Given the description of an element on the screen output the (x, y) to click on. 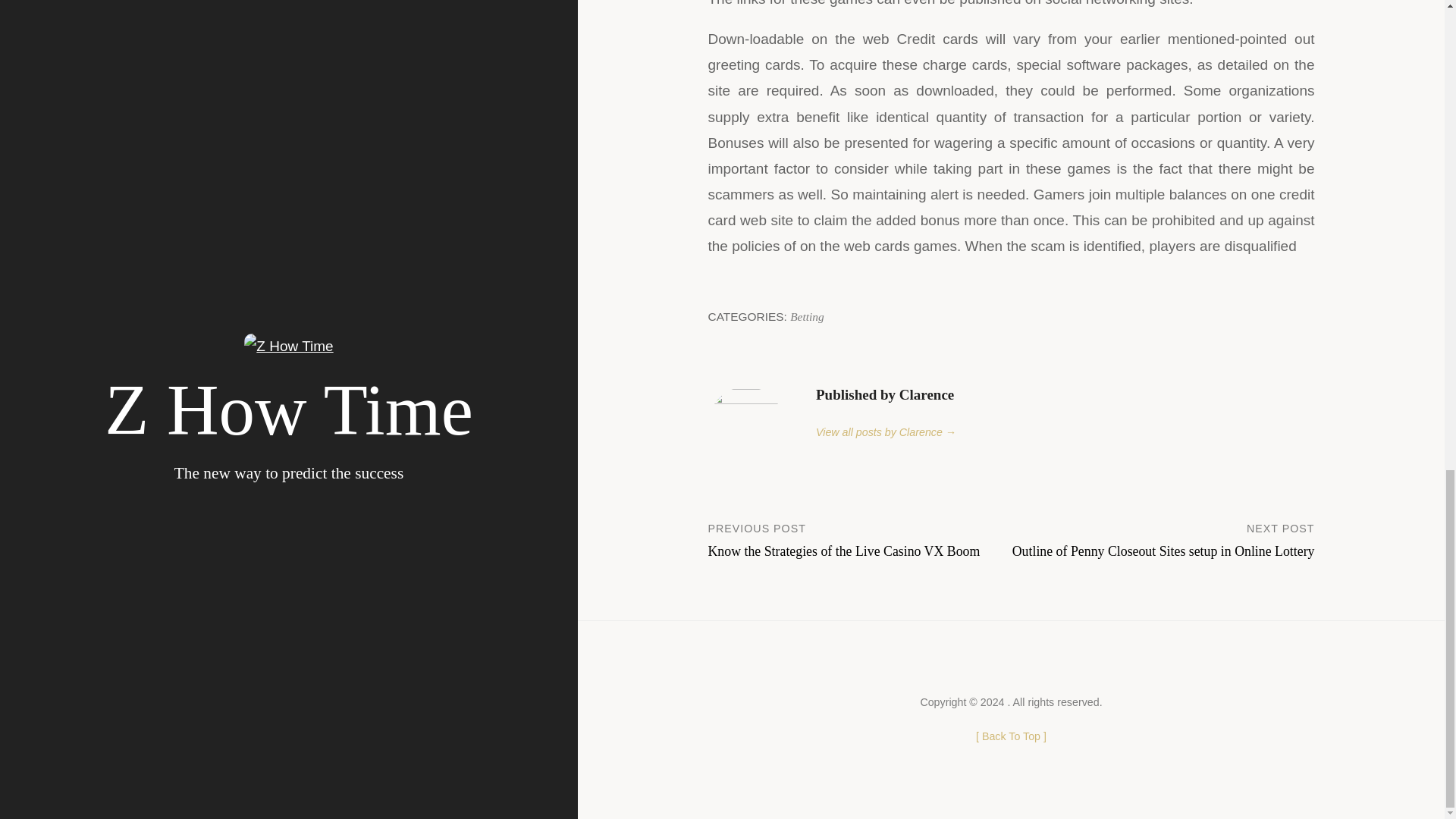
Betting (807, 316)
Back To Top (859, 539)
